Given the description of an element on the screen output the (x, y) to click on. 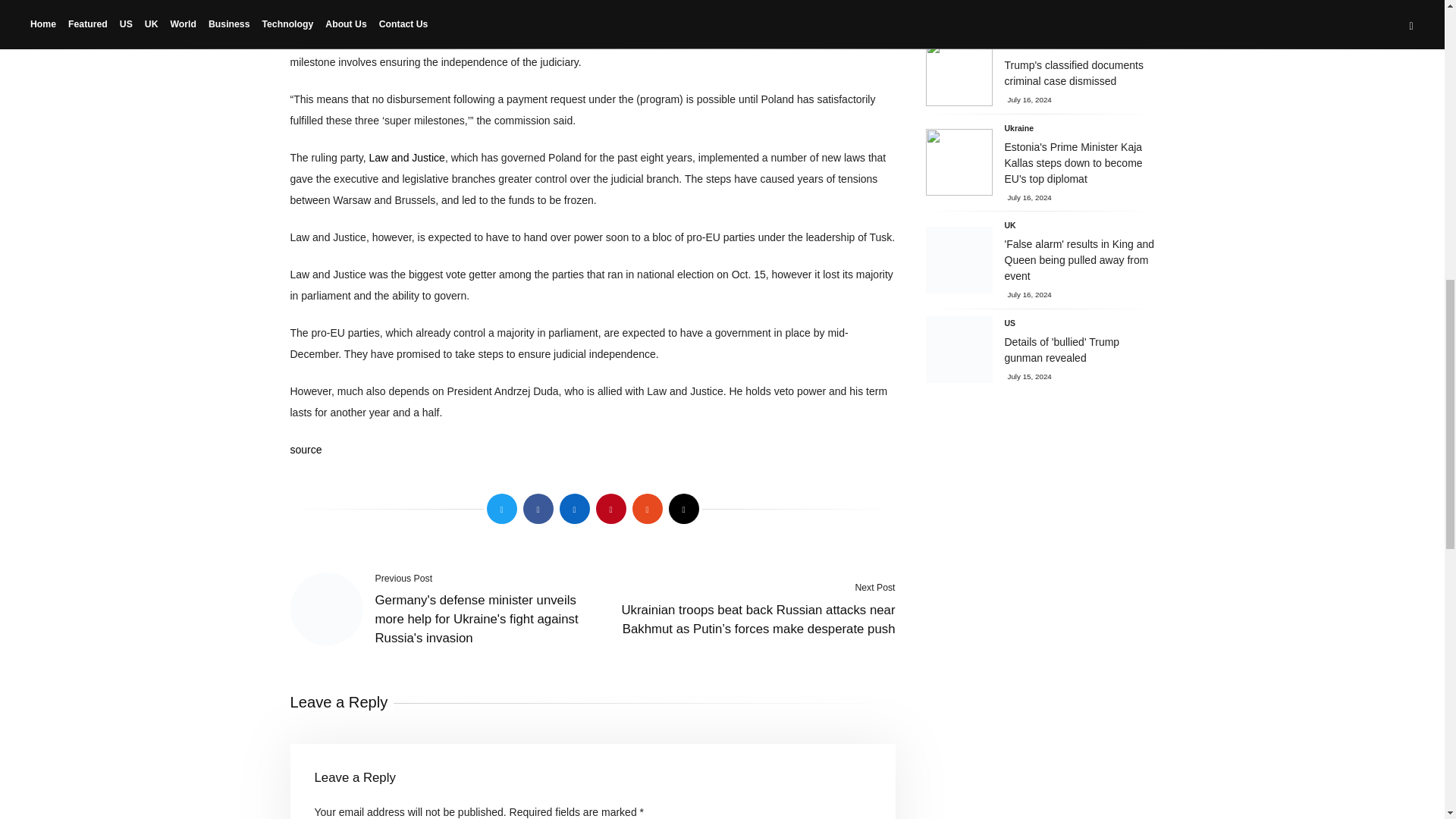
Tweet This! (501, 508)
Share on Reddit (646, 508)
Share on Email (683, 508)
Law and Justice (407, 157)
source (305, 449)
Share on Facebook (537, 508)
Pin this! (610, 508)
Share on LinkedIn (574, 508)
